Given the description of an element on the screen output the (x, y) to click on. 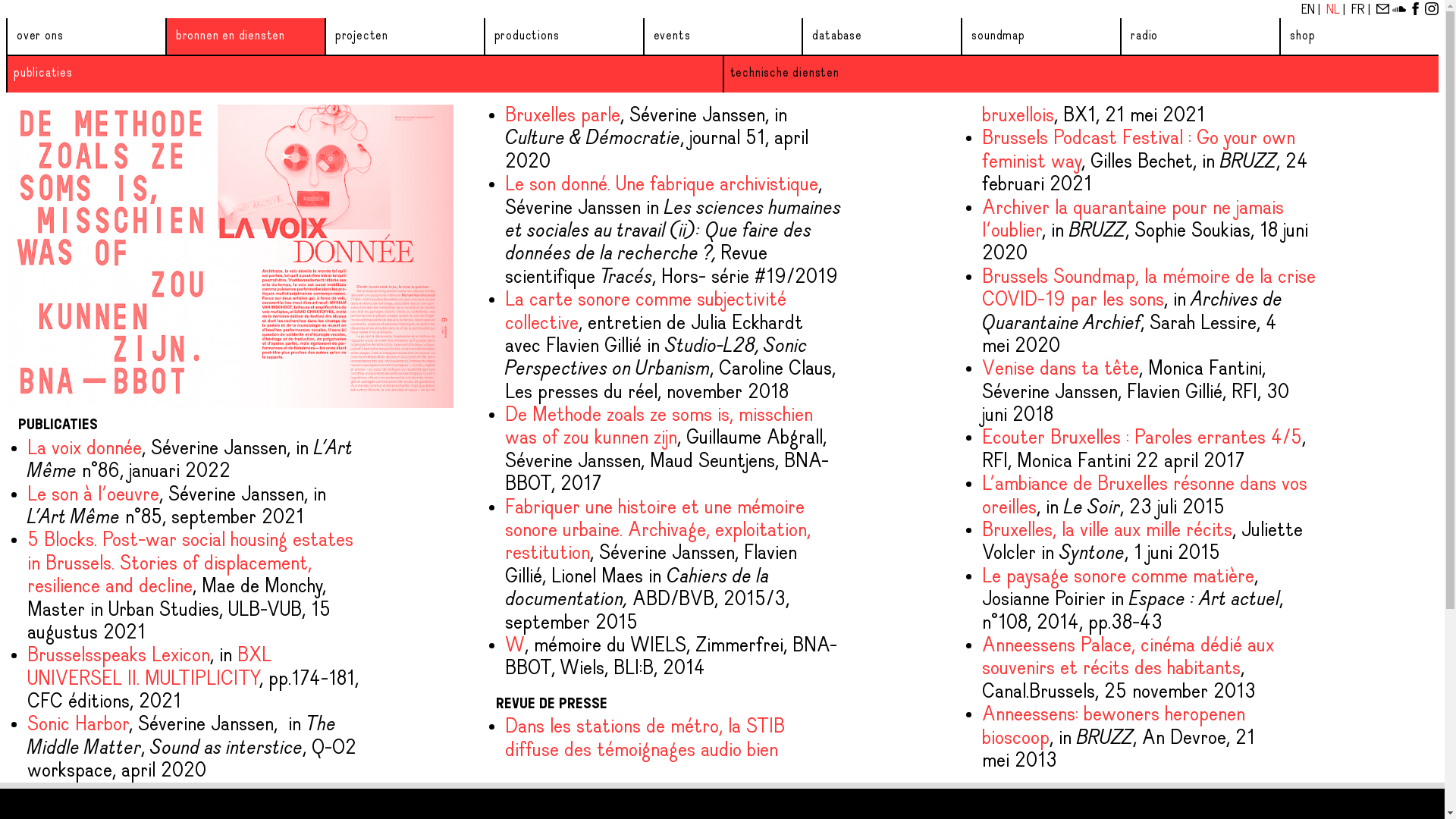
bronnen en diensten Element type: text (230, 35)
database Element type: text (836, 35)
projecten Element type: text (361, 35)
Brusselsspeaks Lexicon Element type: text (118, 655)
soundmap Element type: text (997, 35)
events Element type: text (671, 35)
radio Element type: text (1143, 35)
NL Element type: text (1334, 9)
Ecouter Bruxelles : Paroles errantes 4/5 Element type: text (1142, 437)
shop Element type: text (1301, 35)
Brussels Podcast Festival : Go your own feminist way Element type: text (1138, 150)
Anneessens: bewoners heropenen bioscoop Element type: text (1113, 726)
Bruxelles parle Element type: text (562, 115)
productions Element type: text (526, 35)
EN Element type: text (1309, 9)
Archiver la quarantaine pour ne jamais l'oublier Element type: text (1132, 219)
Sonic Harbor Element type: text (77, 724)
over ons Element type: text (39, 35)
publicaties Element type: text (42, 72)
technische diensten Element type: text (783, 72)
W Element type: text (514, 645)
FR Element type: text (1359, 9)
BXL UNIVERSEL II. MULTIPLICITY Element type: text (149, 667)
